Given the description of an element on the screen output the (x, y) to click on. 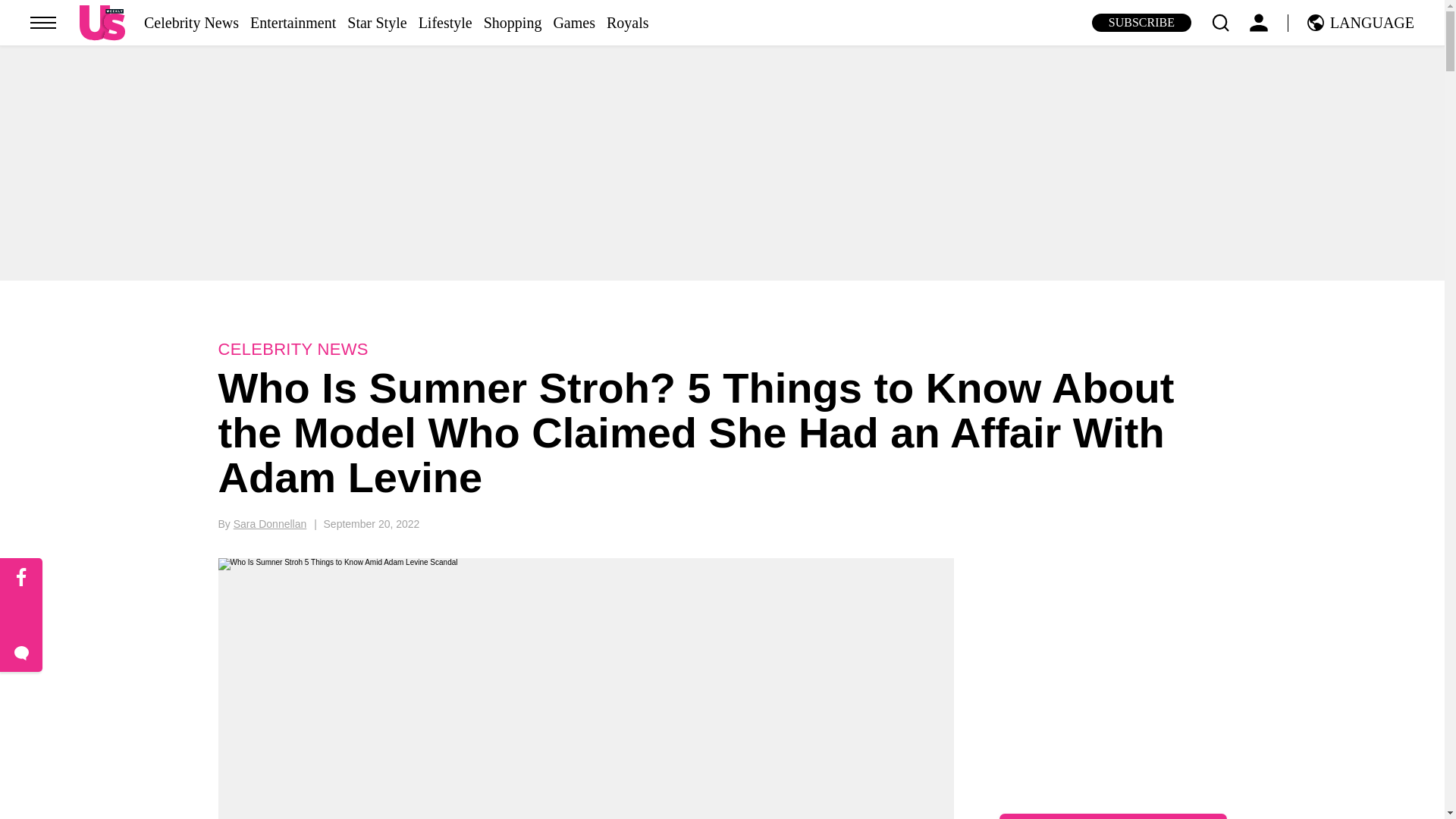
Posts by Sara Donnellan (269, 523)
Us Weekly Magazine (102, 22)
Entertainment (293, 22)
Shopping (512, 22)
Click to share on Twitter (21, 615)
Star Style (376, 22)
Games (574, 22)
Lifestyle (445, 22)
Celebrity News (191, 22)
Click to share on Facebook (21, 577)
